Given the description of an element on the screen output the (x, y) to click on. 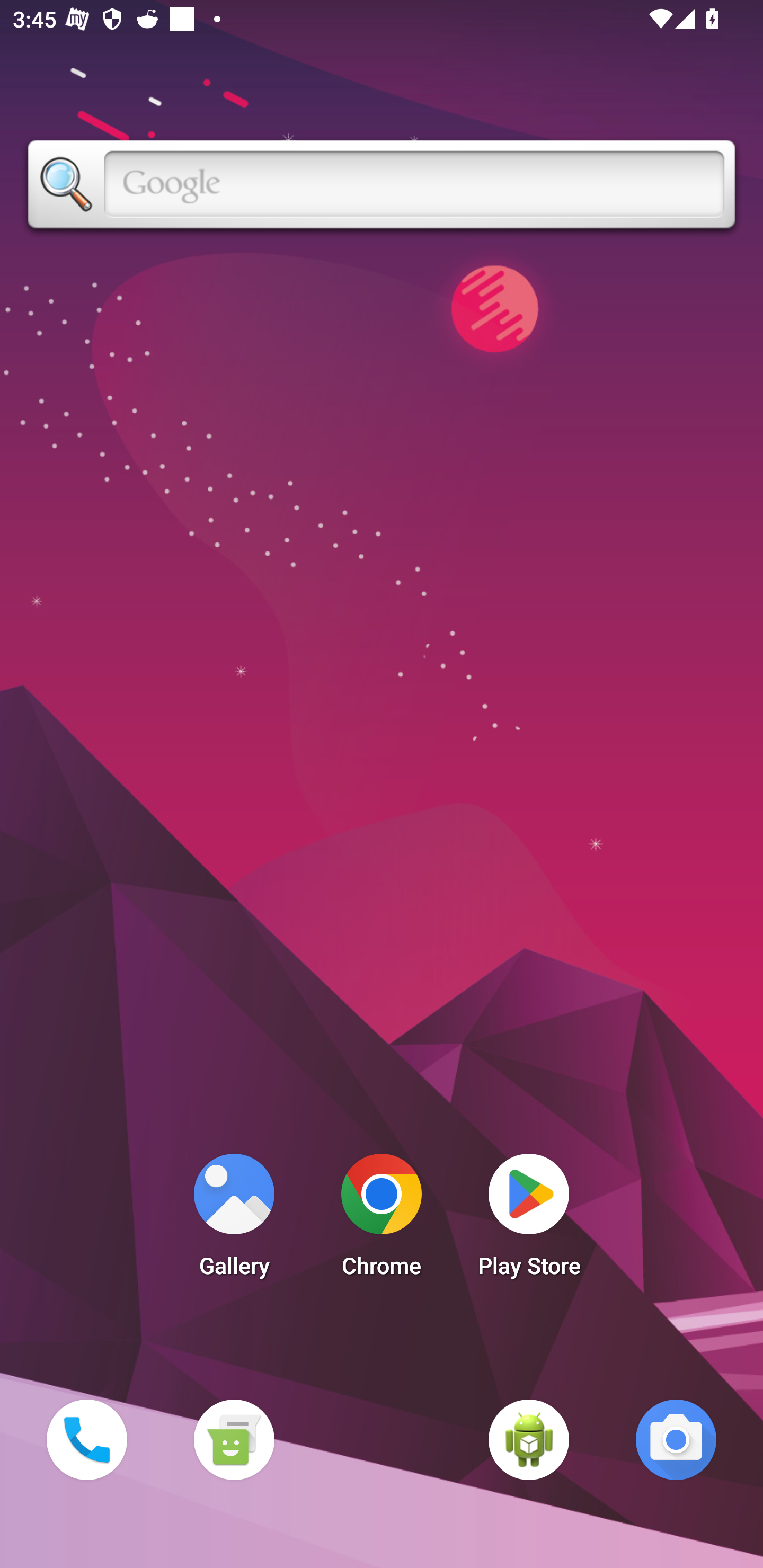
Gallery (233, 1220)
Chrome (381, 1220)
Play Store (528, 1220)
Phone (86, 1439)
Messaging (233, 1439)
WebView Browser Tester (528, 1439)
Camera (676, 1439)
